Given the description of an element on the screen output the (x, y) to click on. 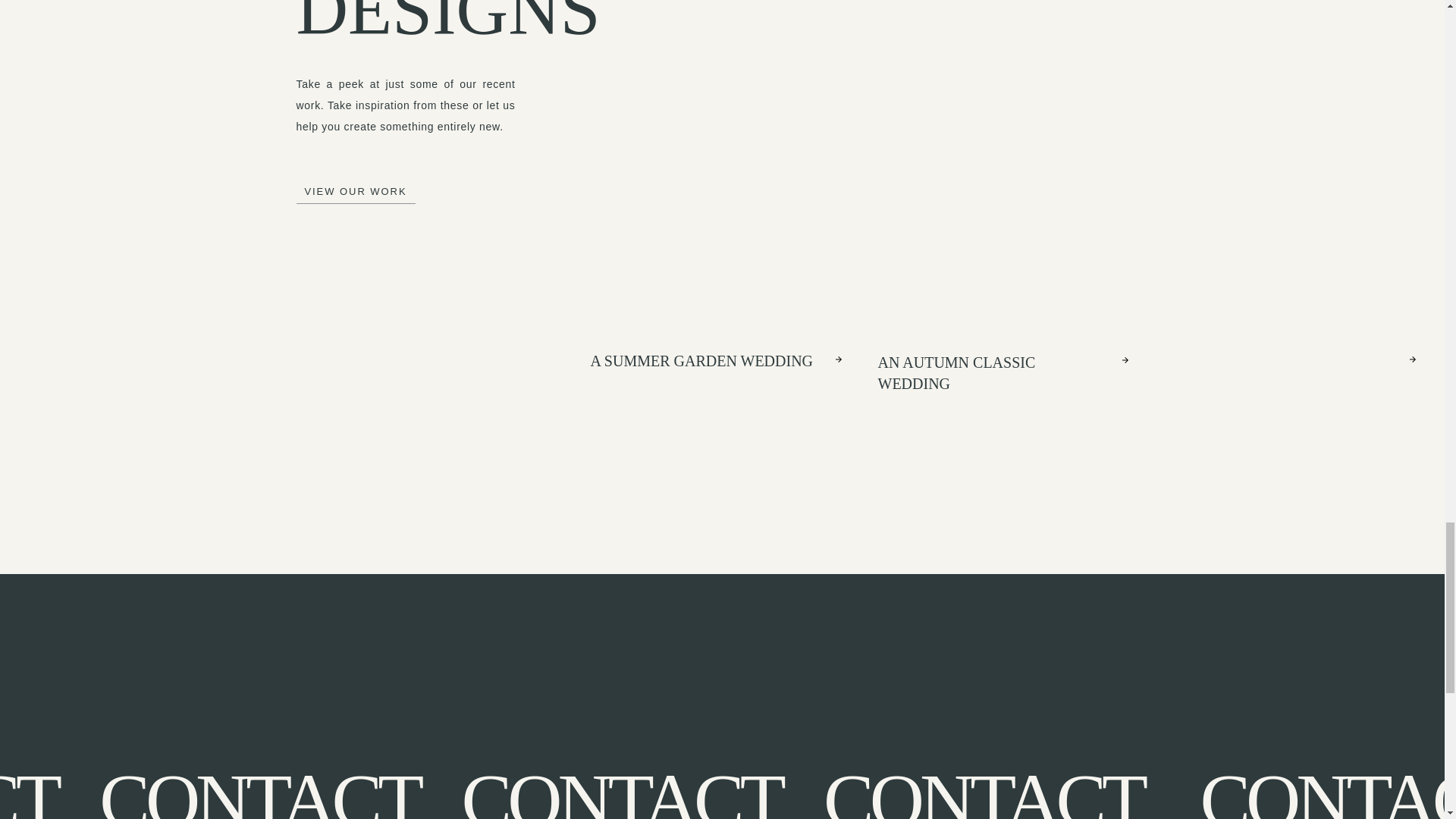
A SUMMER GARDEN WEDDING (705, 368)
VIEW OUR WORK (355, 189)
AN AUTUMN CLASSIC WEDDING (993, 370)
